Given the description of an element on the screen output the (x, y) to click on. 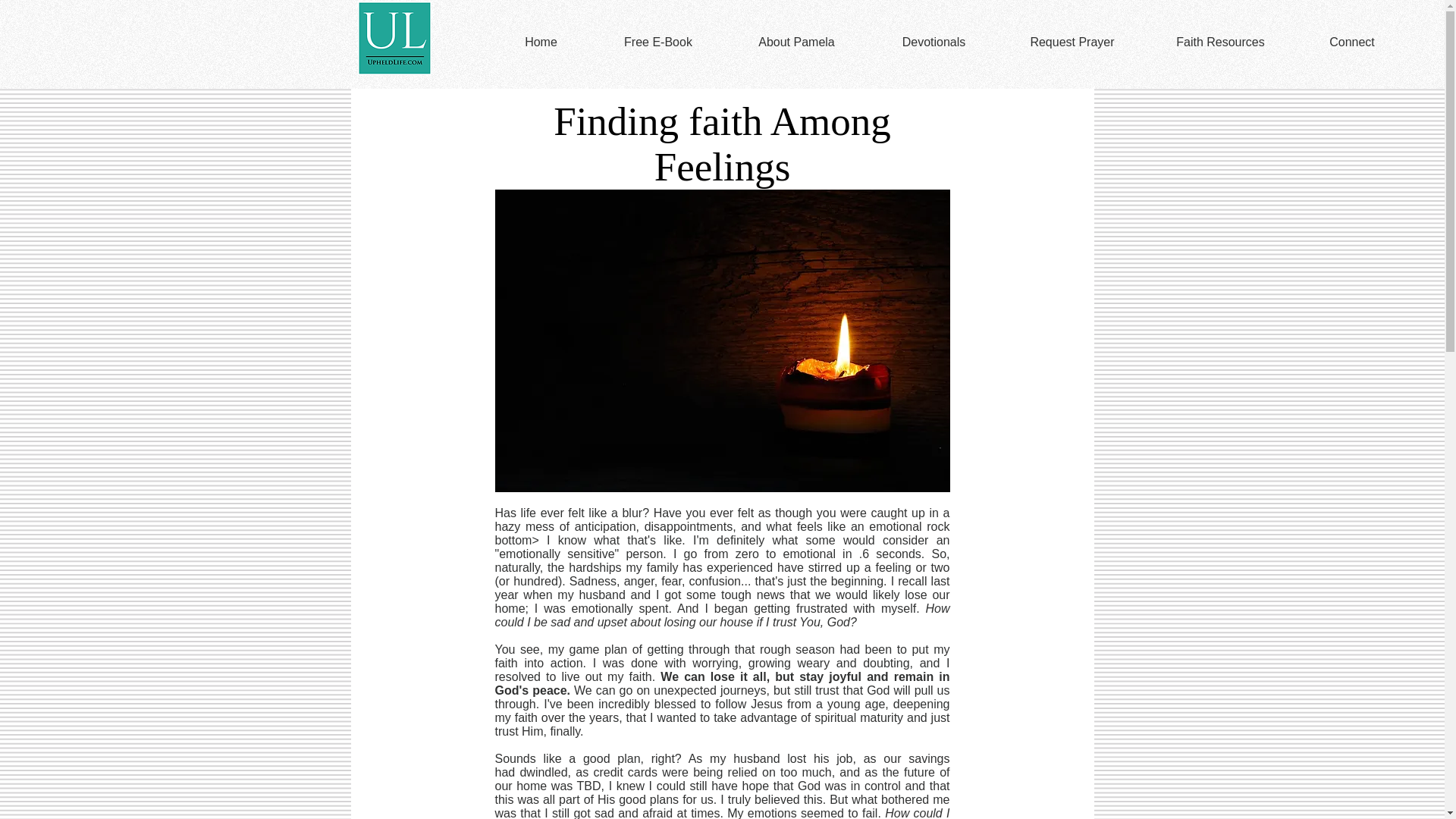
Faith Resources (1219, 42)
Home (540, 42)
Connect (1351, 42)
Free E-Book (658, 42)
Request Prayer (1071, 42)
Devotionals (932, 42)
About Pamela (796, 42)
UL-D-Teal-URL.png (394, 38)
